Given the description of an element on the screen output the (x, y) to click on. 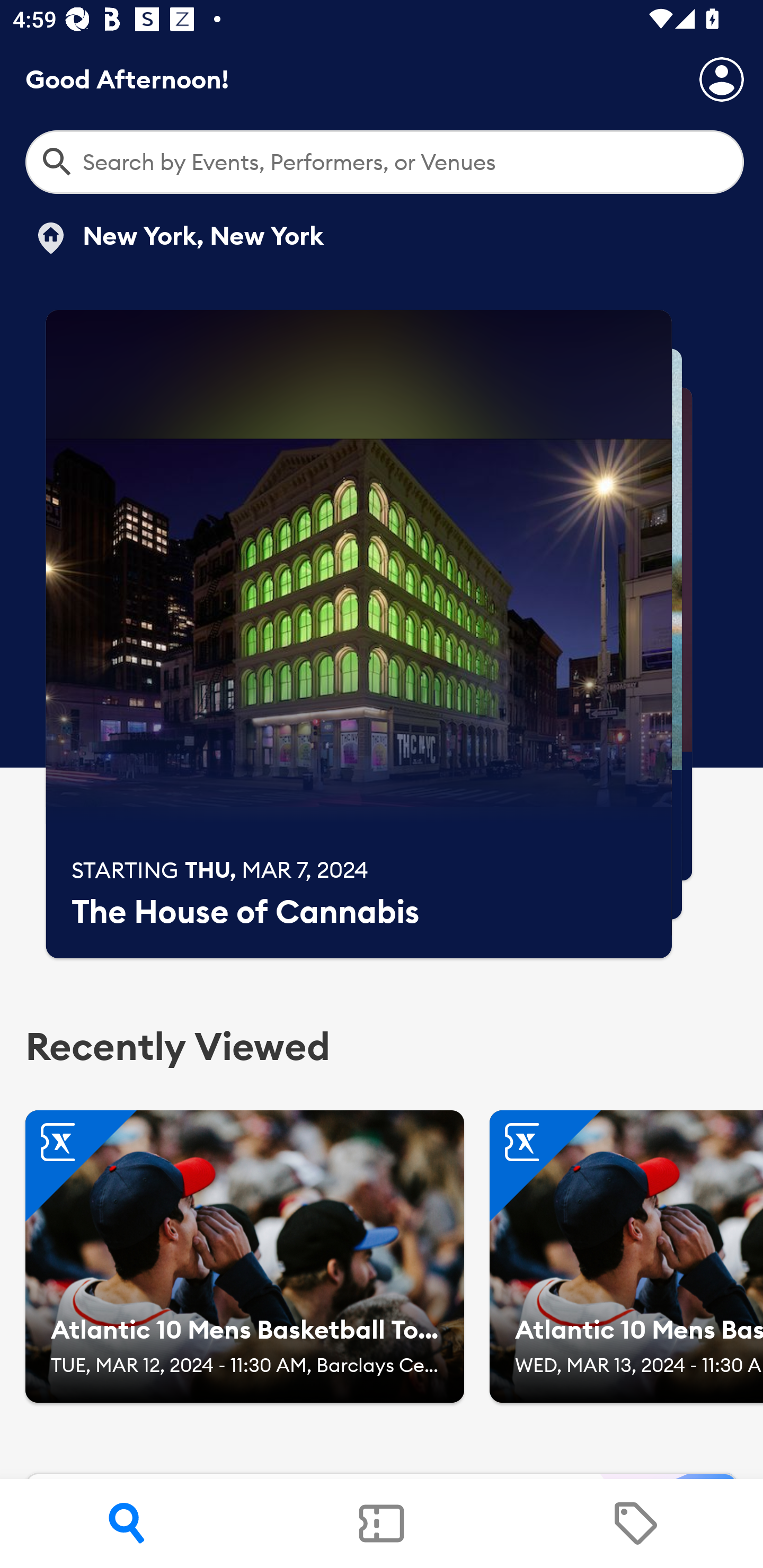
UserIcon (721, 78)
Search by Events, Performers, or Venues (384, 161)
New York, New York (177, 237)
STARTING THU, MAR 7, 2024 The House of Cannabis (358, 634)
Menu Item: Tickets (381, 1523)
Menu Item: Resale (635, 1523)
